Given the description of an element on the screen output the (x, y) to click on. 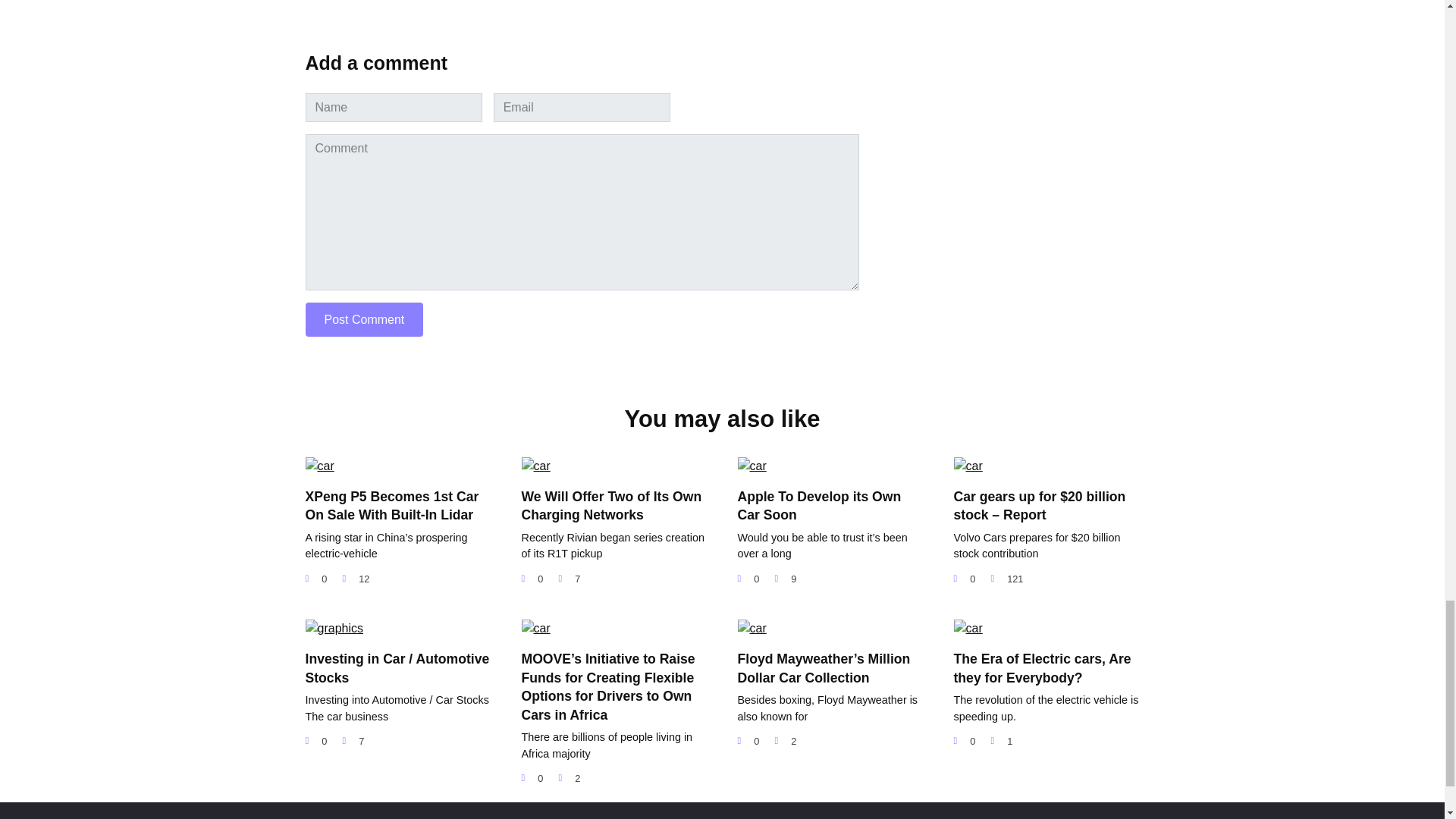
We Will Offer Two of Its Own Charging Networks (611, 505)
Post Comment (363, 319)
Apple To Develop its Own Car Soon (818, 505)
Post Comment (363, 319)
XPeng P5 Becomes 1st Car On Sale With Built-In Lidar (391, 505)
